Given the description of an element on the screen output the (x, y) to click on. 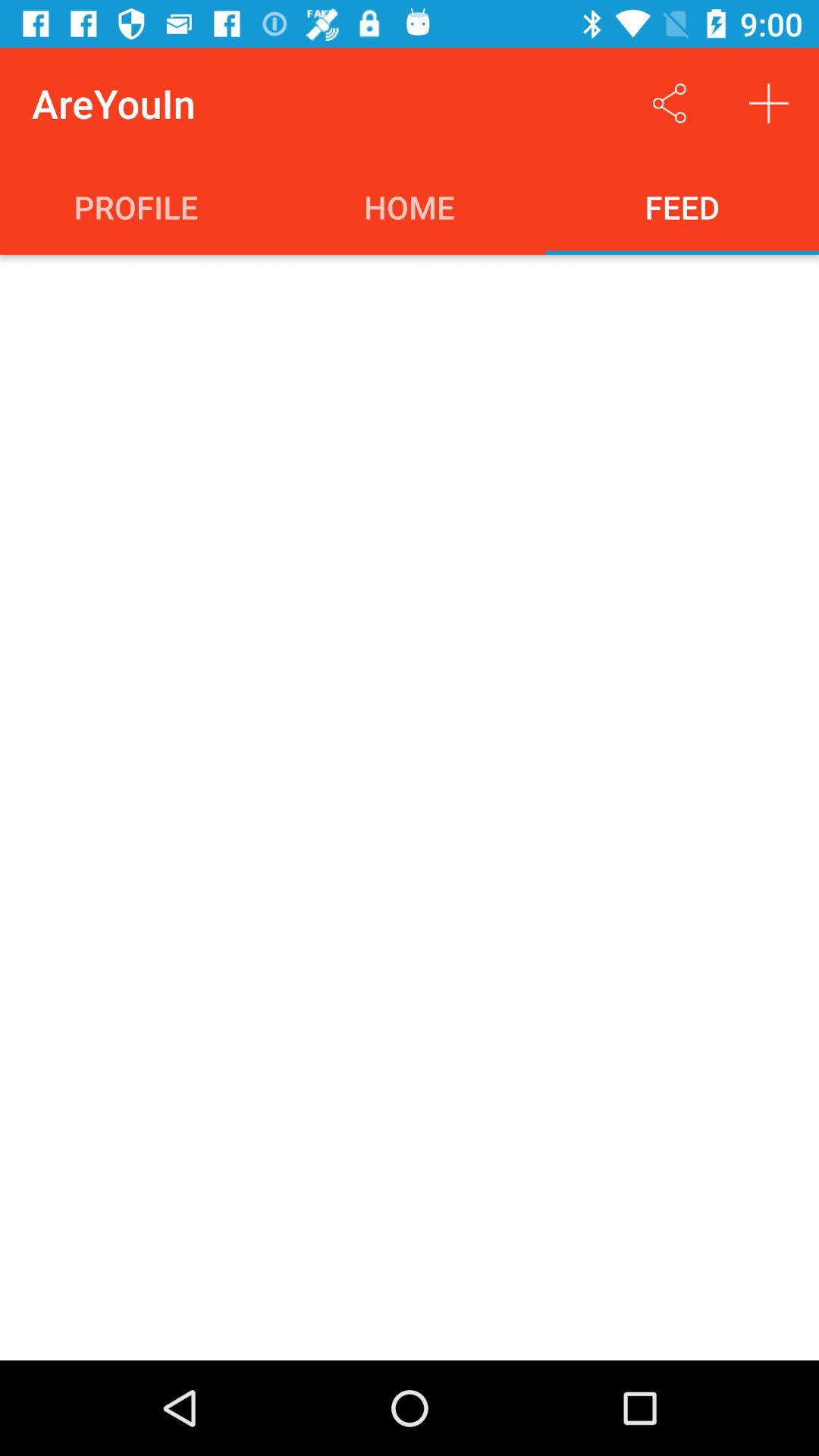
choose icon next to the areyouin item (669, 103)
